Given the description of an element on the screen output the (x, y) to click on. 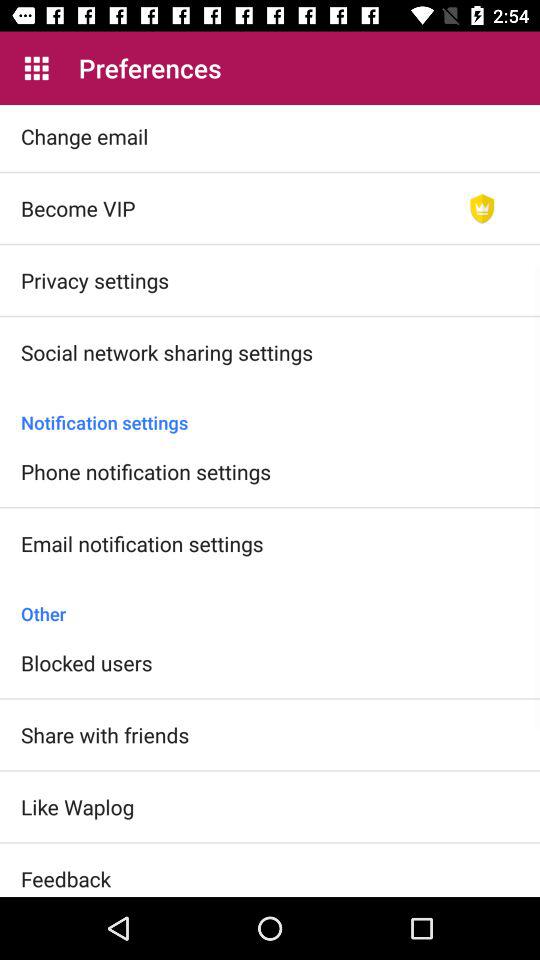
turn on blocked users item (86, 662)
